Given the description of an element on the screen output the (x, y) to click on. 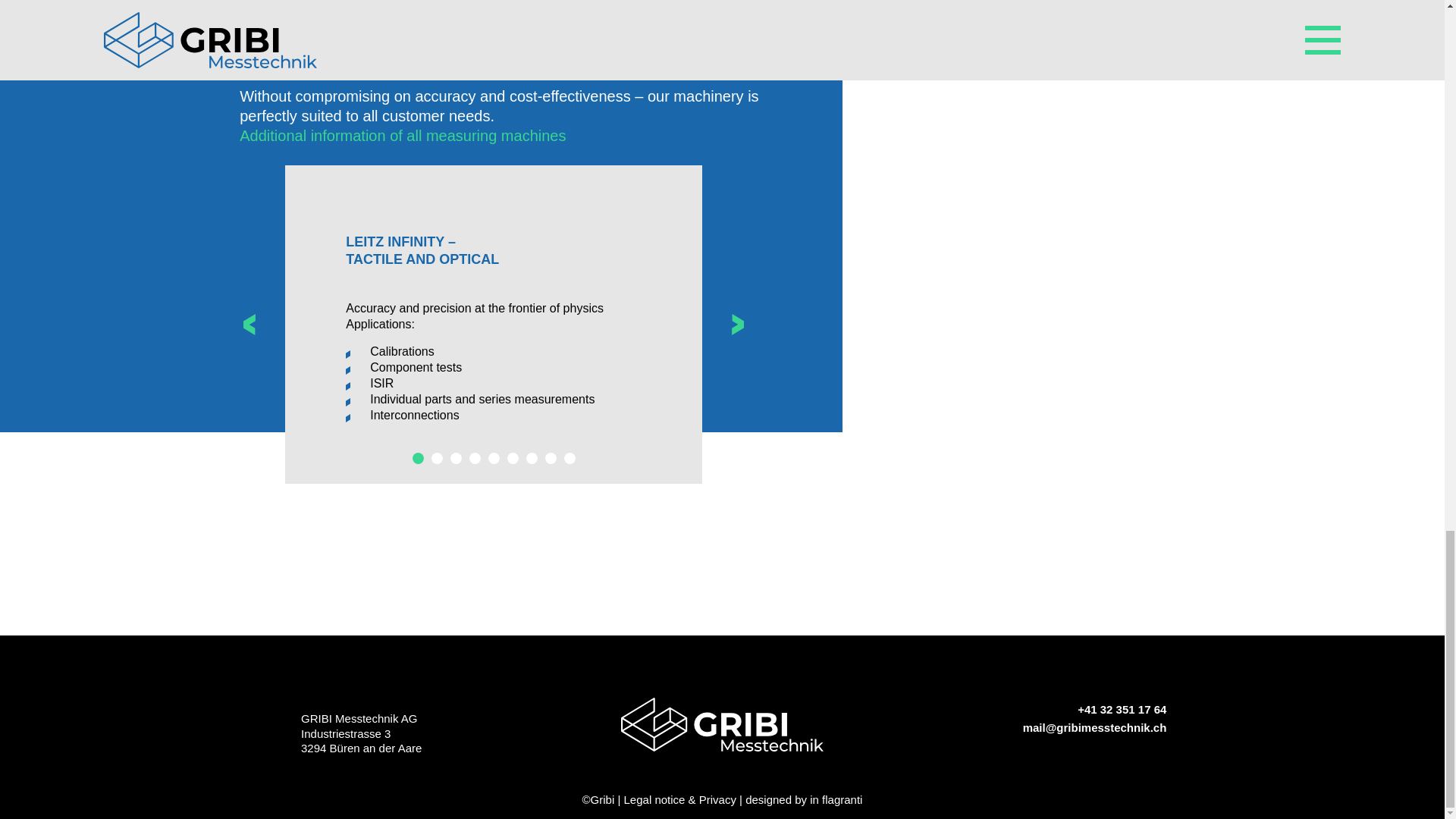
Additional information of all measuring machines (403, 135)
